Given the description of an element on the screen output the (x, y) to click on. 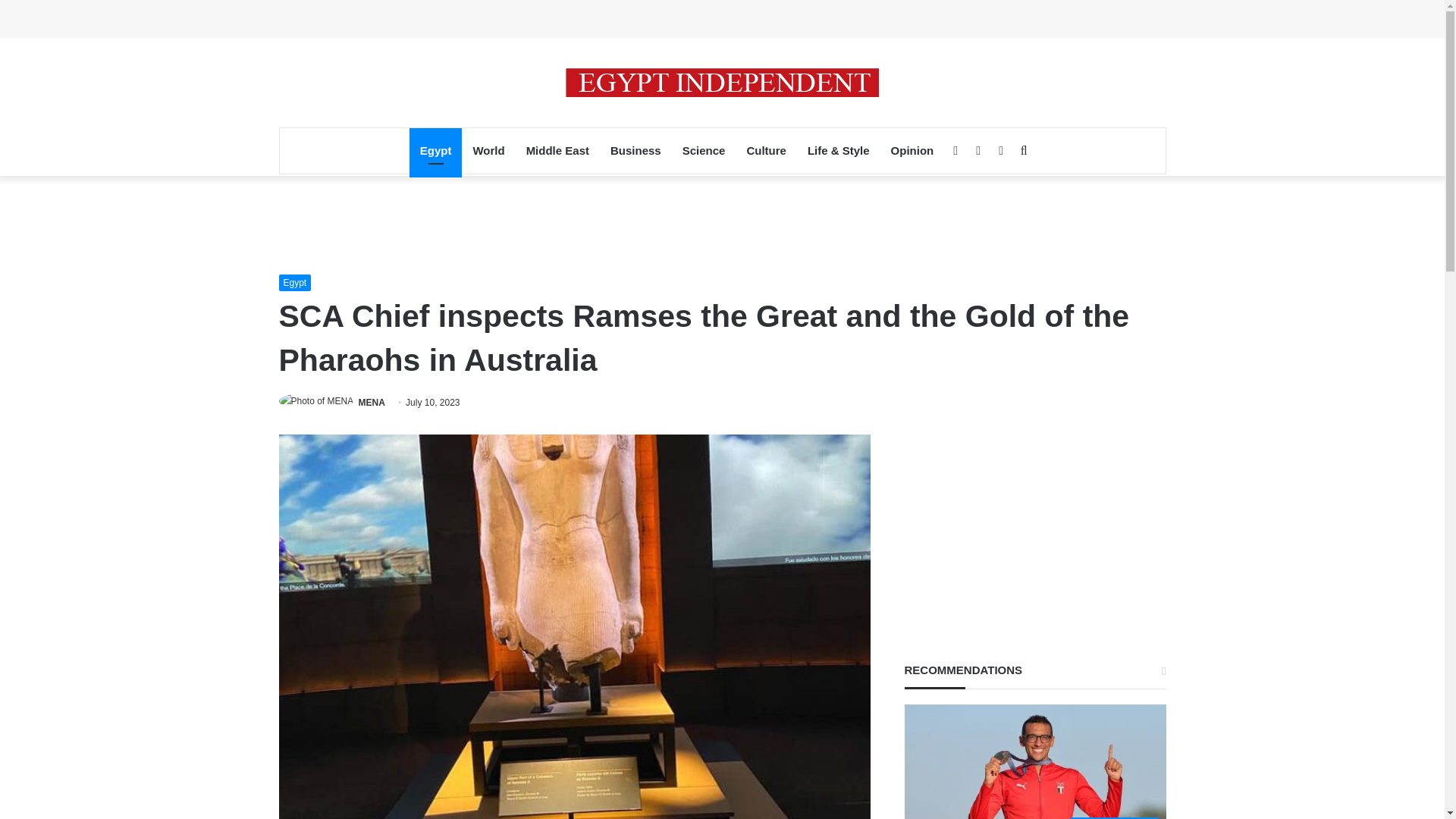
Egypt (295, 282)
Egypt Independent (722, 82)
Business (635, 150)
Opinion (912, 150)
Science (703, 150)
MENA (371, 402)
Culture (765, 150)
MENA (371, 402)
Middle East (557, 150)
World (488, 150)
